Given the description of an element on the screen output the (x, y) to click on. 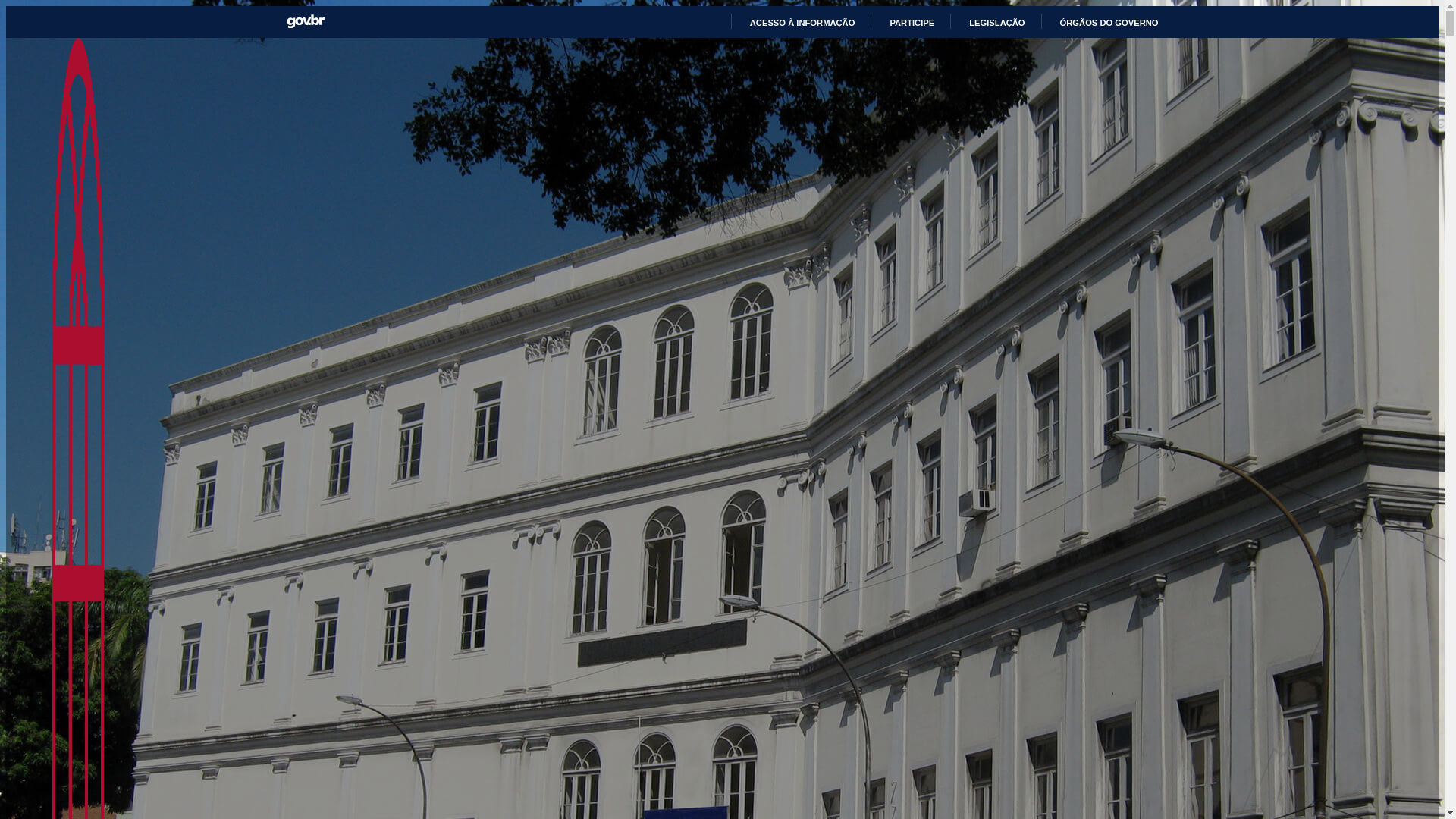
PARTICIPE Element type: text (905, 22)
GOVBR Element type: text (305, 20)
